Given the description of an element on the screen output the (x, y) to click on. 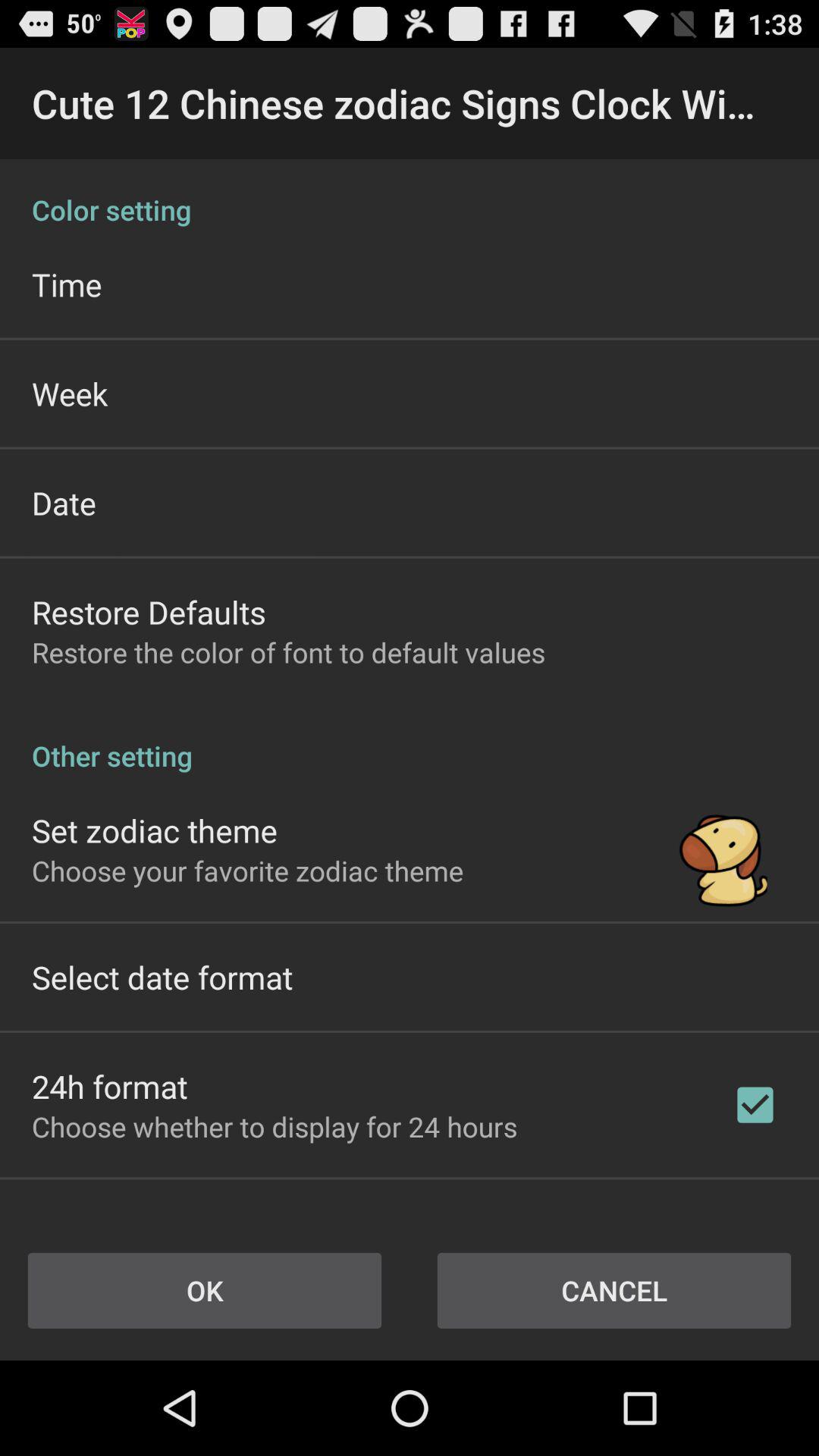
open the app above restore the color icon (148, 611)
